Given the description of an element on the screen output the (x, y) to click on. 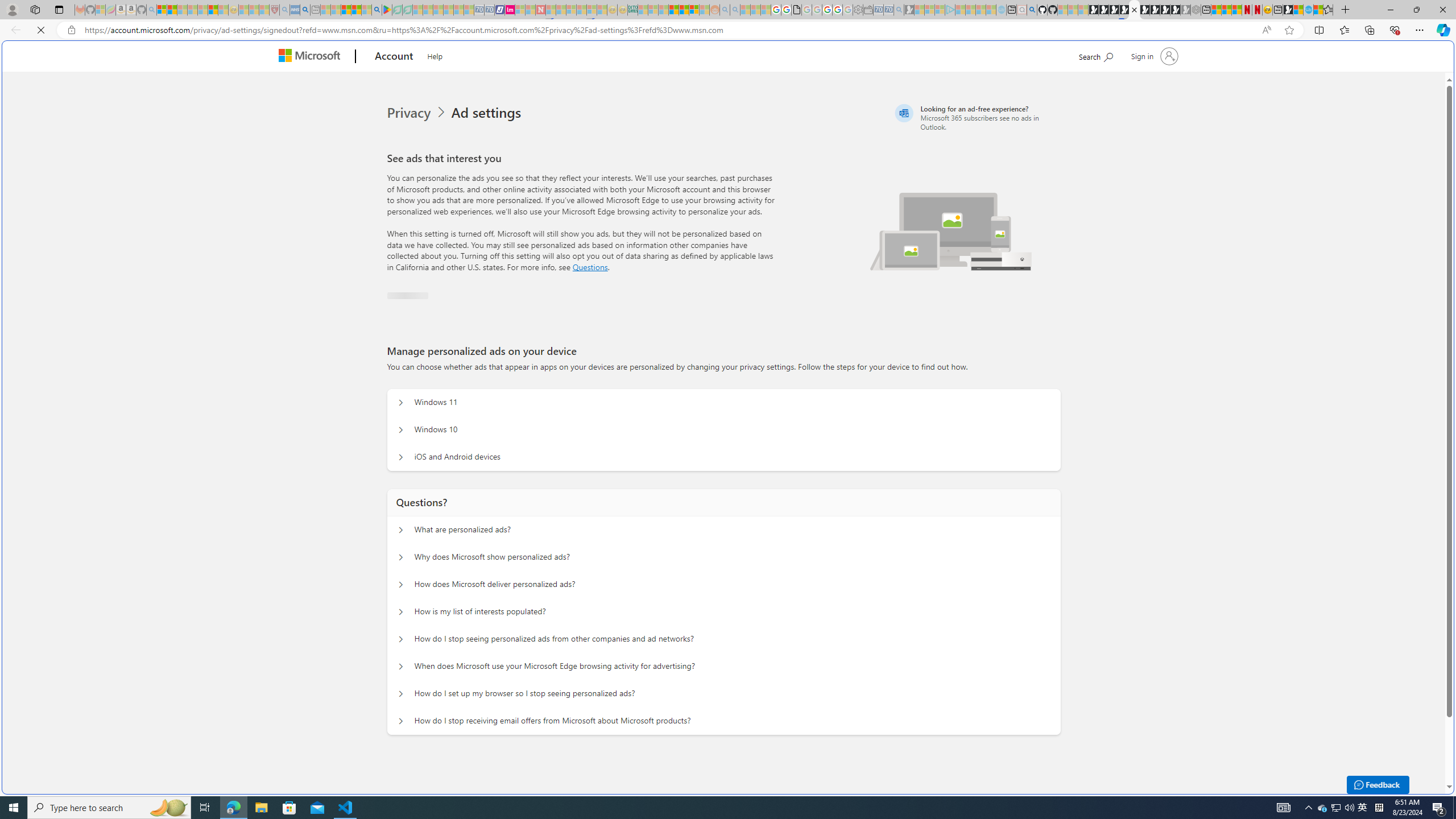
Expert Portfolios (673, 9)
Help (434, 54)
Questions? Why does Microsoft show personalized ads? (401, 554)
Microsoft (311, 56)
